Given the description of an element on the screen output the (x, y) to click on. 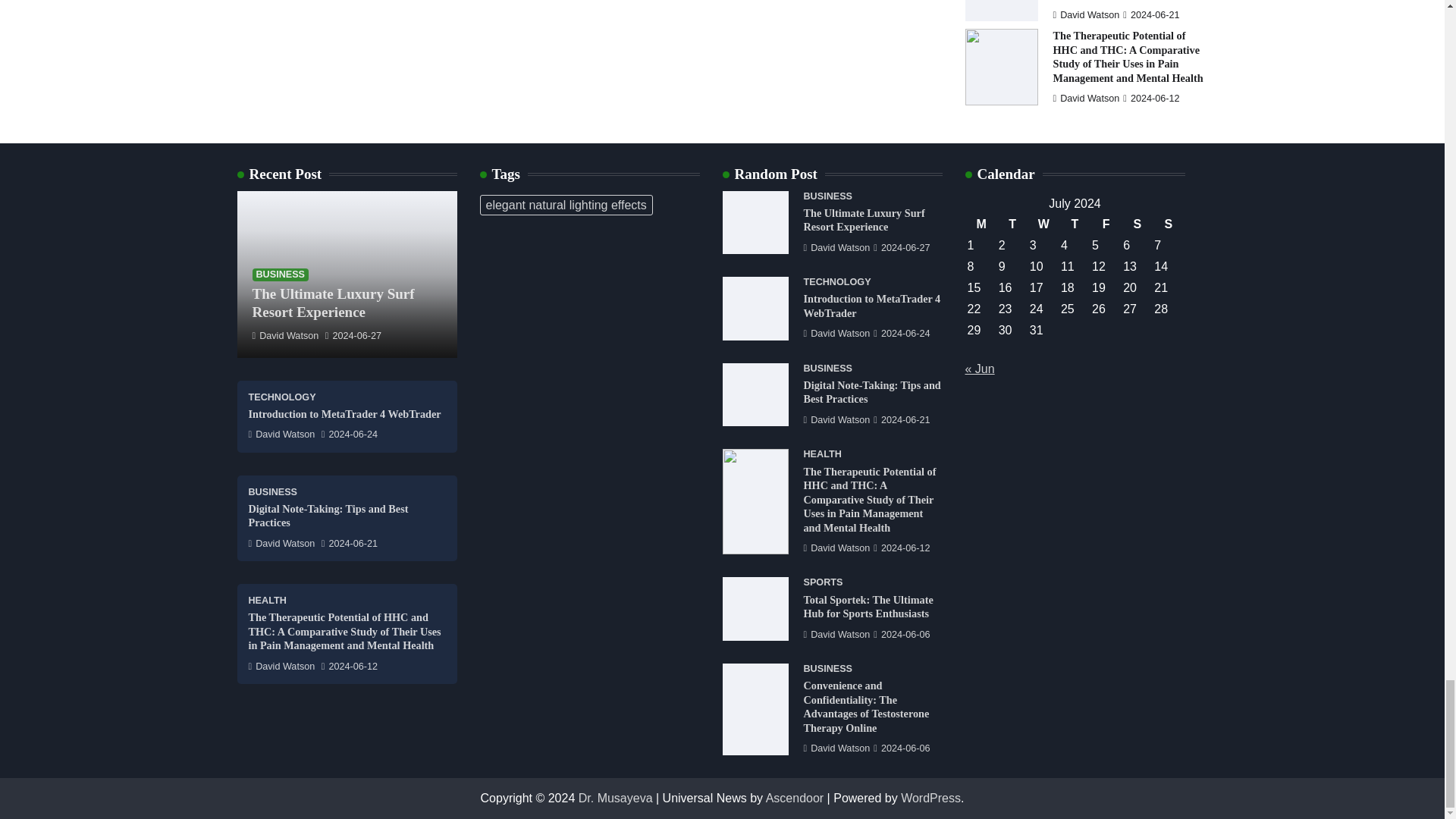
Wednesday (1043, 224)
Tuesday (1012, 224)
Sunday (1167, 224)
Thursday (1074, 224)
Friday (1105, 224)
Saturday (1136, 224)
Monday (980, 224)
